Given the description of an element on the screen output the (x, y) to click on. 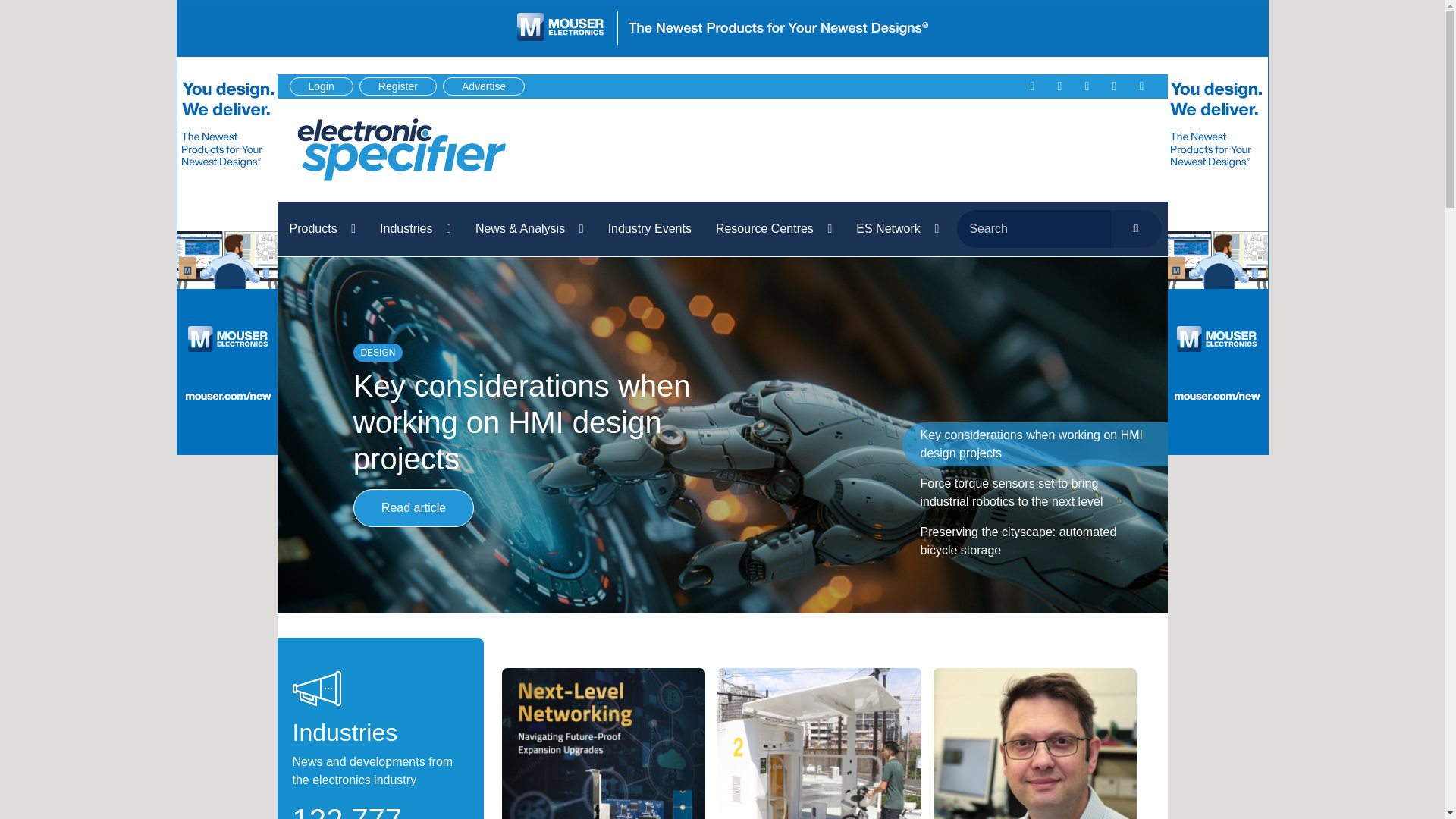
Login (321, 85)
Products (323, 228)
Advertise (483, 85)
Register (397, 85)
3rd party ad content (874, 150)
